Given the description of an element on the screen output the (x, y) to click on. 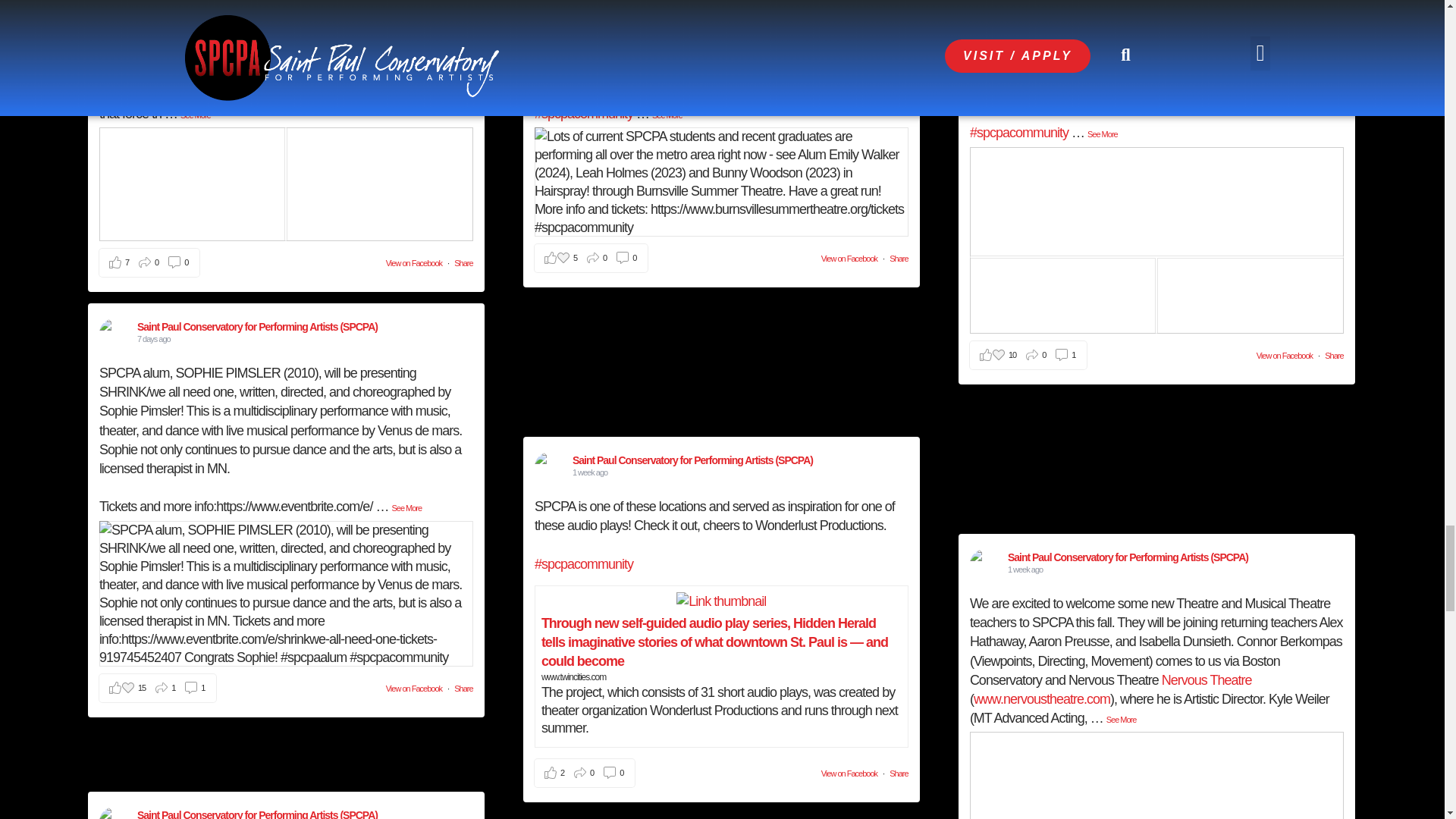
View on Facebook (1285, 355)
Share (898, 773)
View on Facebook (414, 262)
Share (1333, 355)
View on Facebook (850, 257)
Share (462, 262)
Share (462, 687)
View on Facebook (414, 687)
View on Facebook (850, 773)
Share (898, 257)
